Given the description of an element on the screen output the (x, y) to click on. 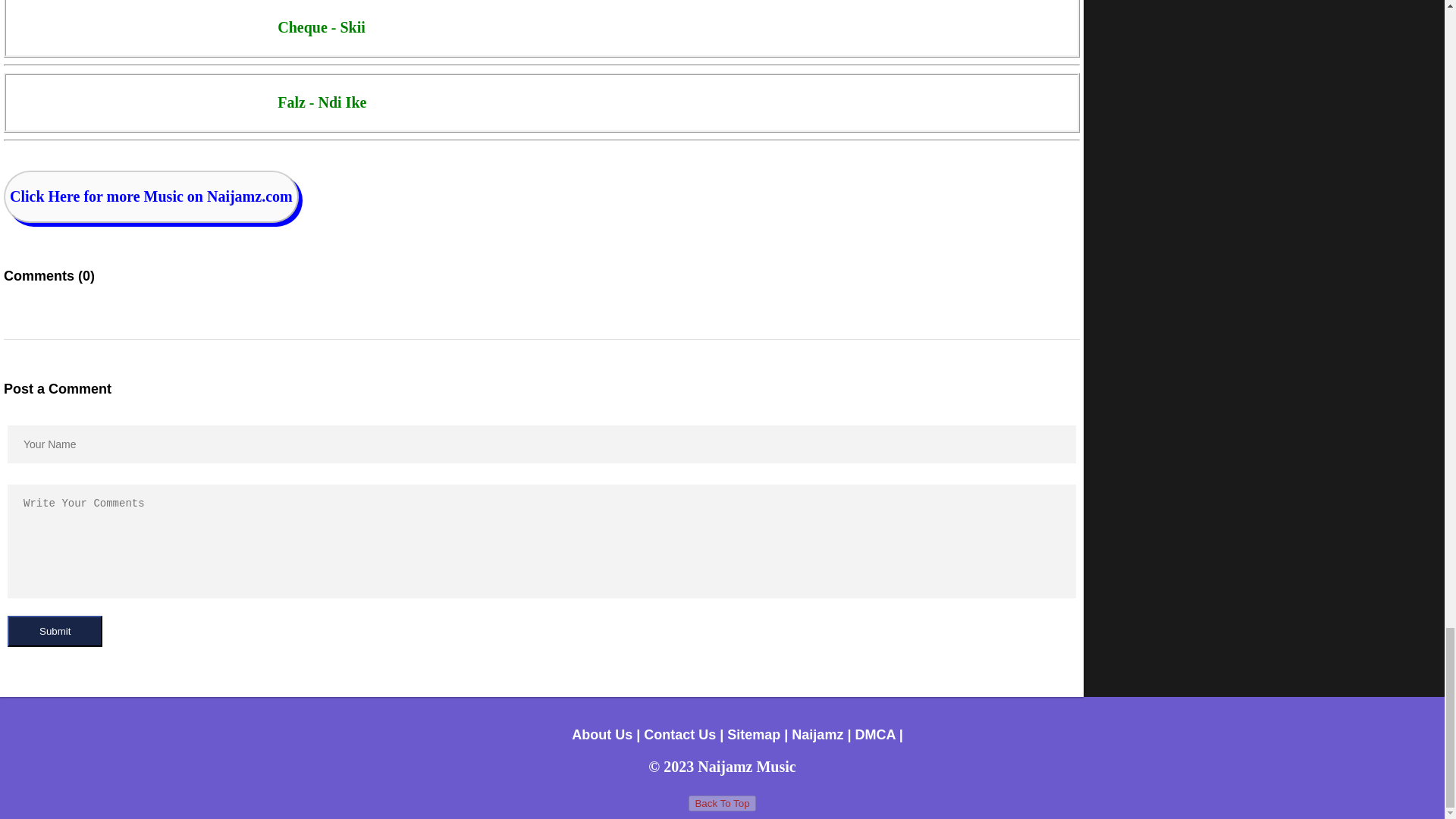
Go to top (721, 803)
